Given the description of an element on the screen output the (x, y) to click on. 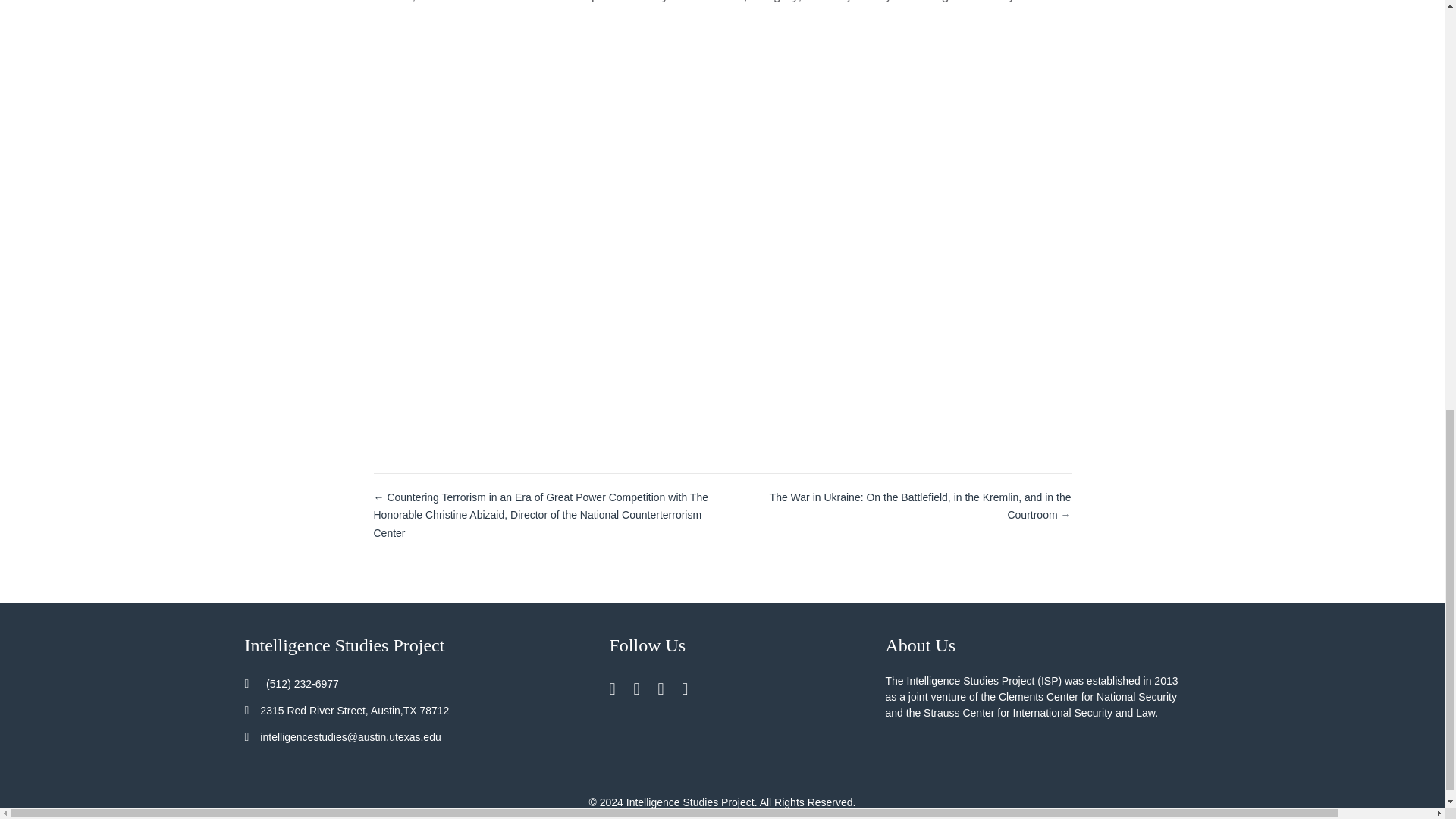
the Strauss Center for International Security and Law. (1031, 712)
Clements Center for National Security (1087, 696)
